Given the description of an element on the screen output the (x, y) to click on. 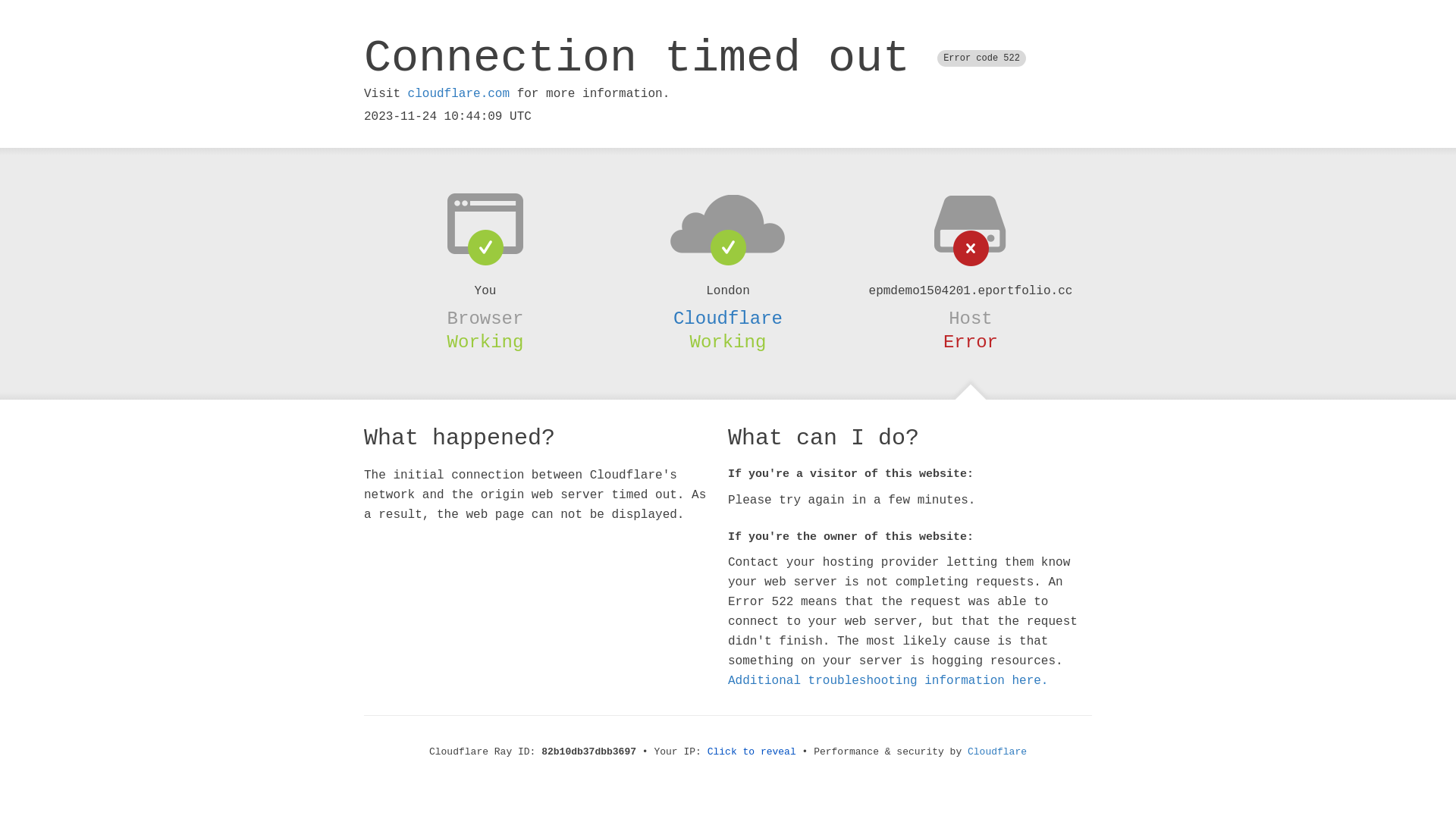
cloudflare.com Element type: text (458, 93)
Cloudflare Element type: text (996, 751)
Cloudflare Element type: text (727, 318)
Additional troubleshooting information here. Element type: text (888, 680)
Click to reveal Element type: text (751, 751)
